Given the description of an element on the screen output the (x, y) to click on. 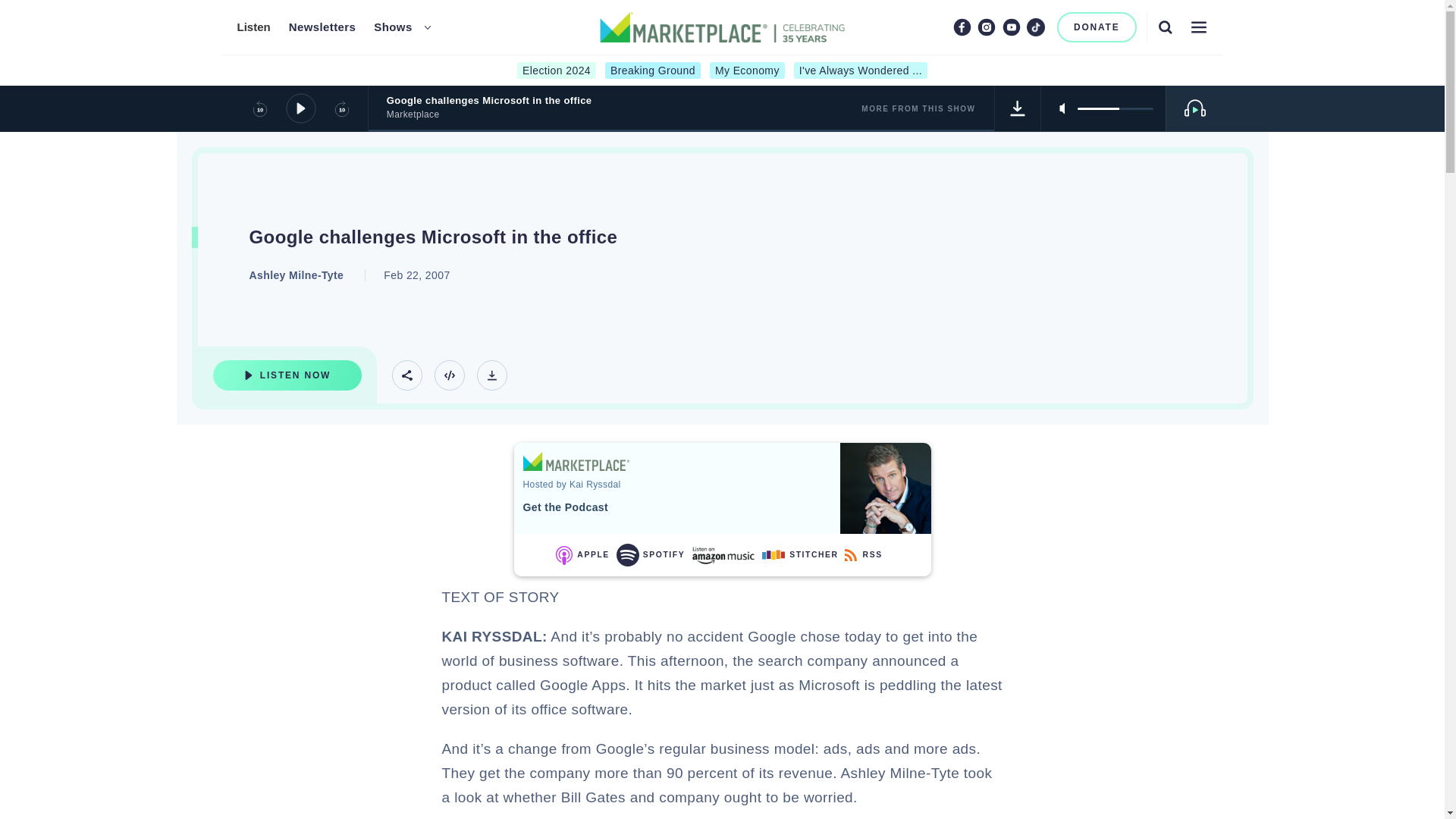
Search (1164, 27)
Newsletters (322, 27)
Instagram (985, 27)
Download Track (491, 374)
Marketplace (575, 461)
5 (1115, 108)
TikTok (1035, 27)
Youtube (1011, 27)
Download Track (1017, 108)
Menu (1198, 27)
